Given the description of an element on the screen output the (x, y) to click on. 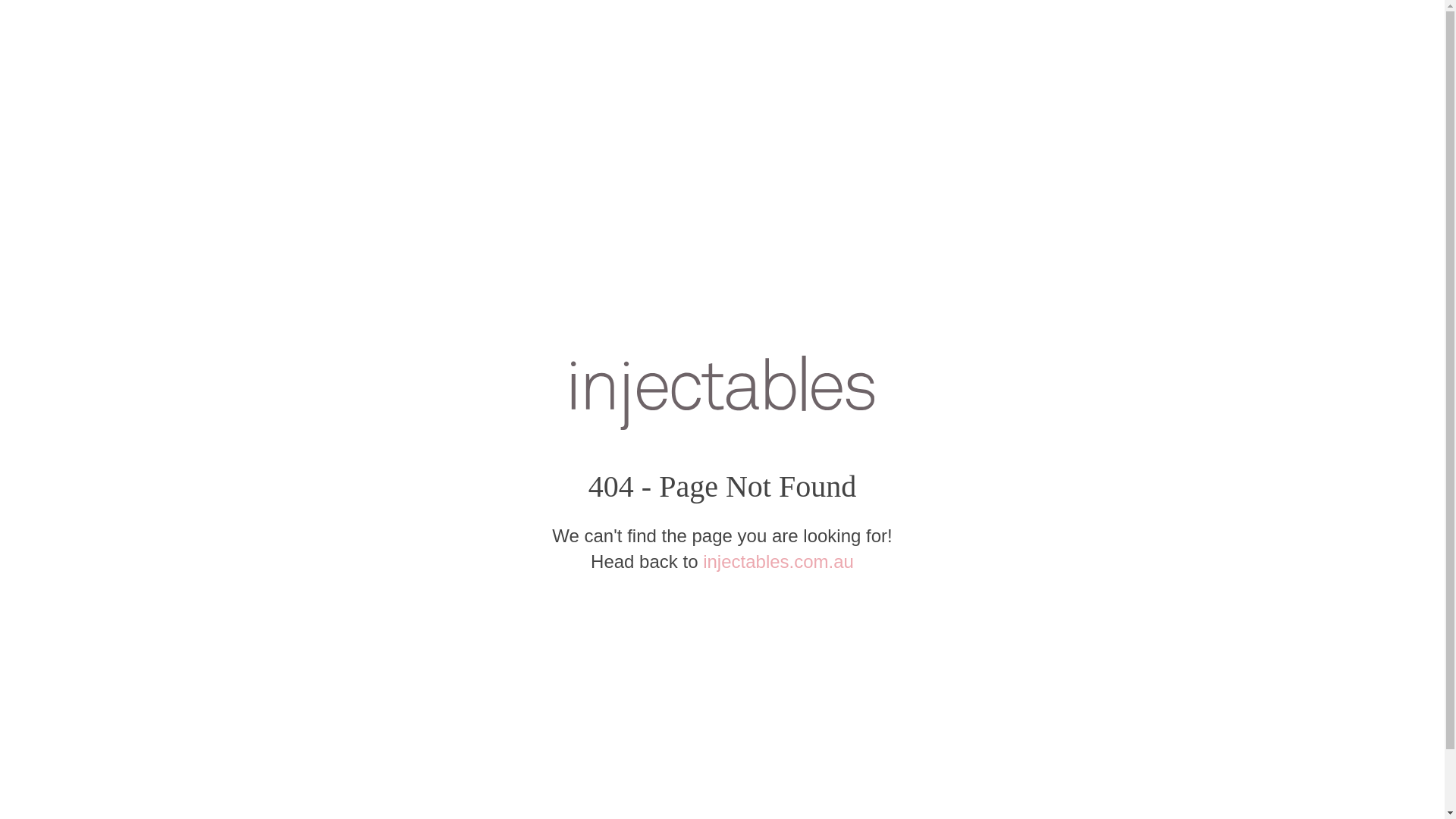
injectables.com.au Element type: text (777, 561)
